Given the description of an element on the screen output the (x, y) to click on. 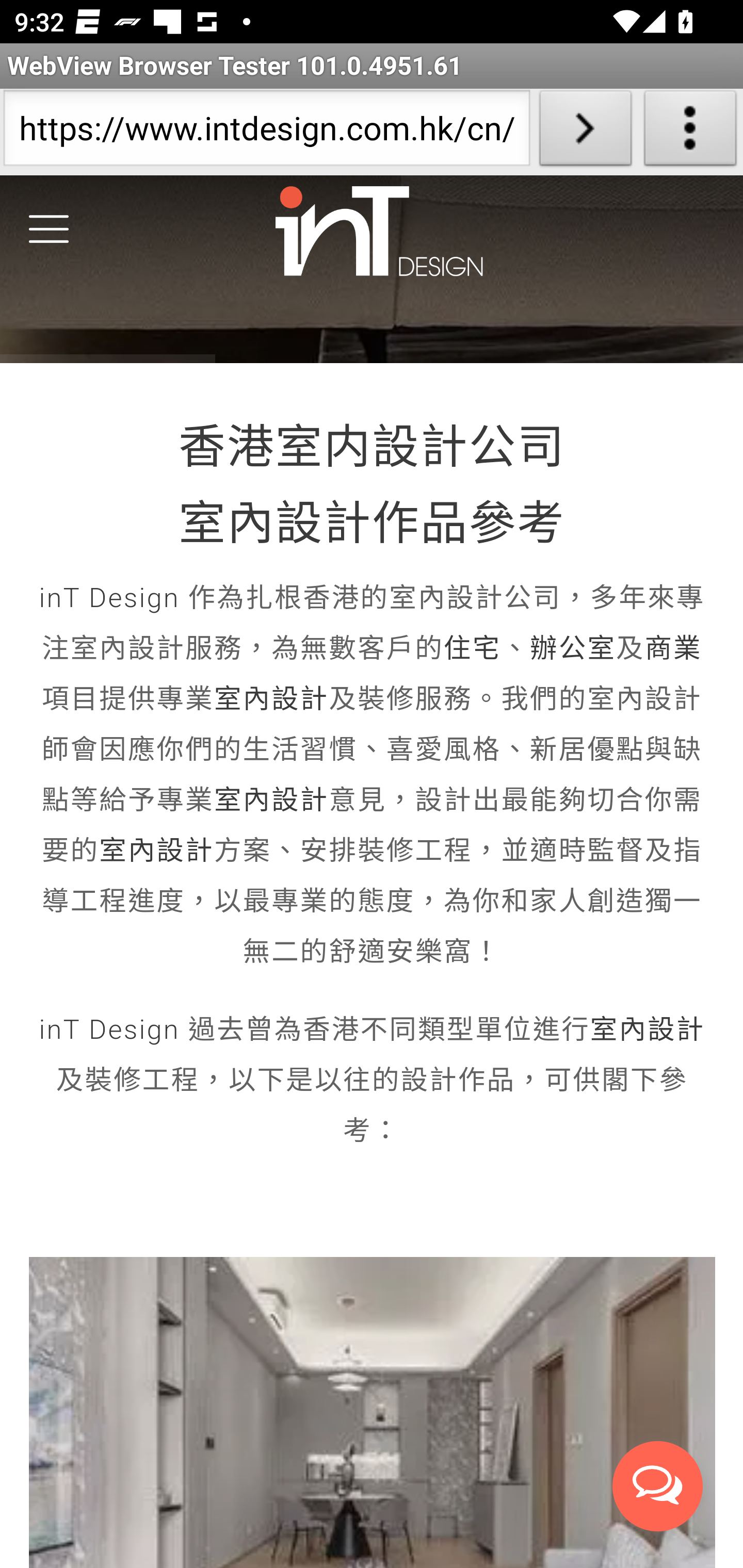
Load URL (585, 132)
About WebView (690, 132)
TheWoods_interiordesign_banner_1080 (371, 271)
 (48, 231)
香港室内設計公司 (371, 449)
inT Design (108, 599)
住宅 (472, 649)
辦公室 (573, 649)
商業 (672, 649)
室內設計 (271, 700)
室內設計 (271, 801)
室內設計 (155, 851)
inT Design (108, 1030)
室內設計 (646, 1030)
lohas-park-10-mid (372, 1411)
Open messengers list (657, 1488)
